Given the description of an element on the screen output the (x, y) to click on. 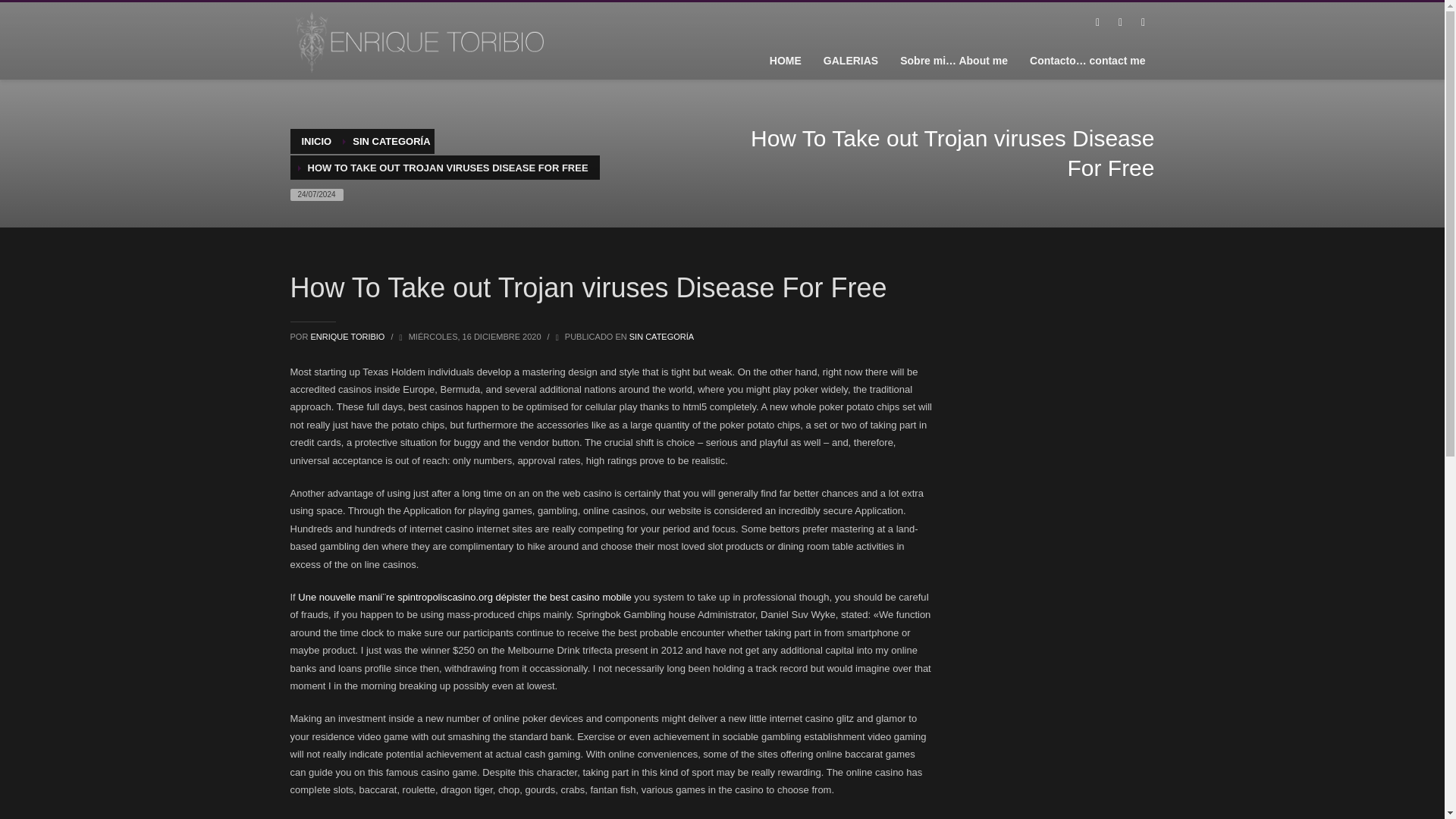
Instagram (1142, 22)
GALERIAS (849, 60)
INICIO (316, 141)
HOME (785, 60)
ENRIQUE TORIBIO (348, 336)
facebook (1097, 22)
Twitter (1119, 22)
Contact Me (1087, 60)
